Given the description of an element on the screen output the (x, y) to click on. 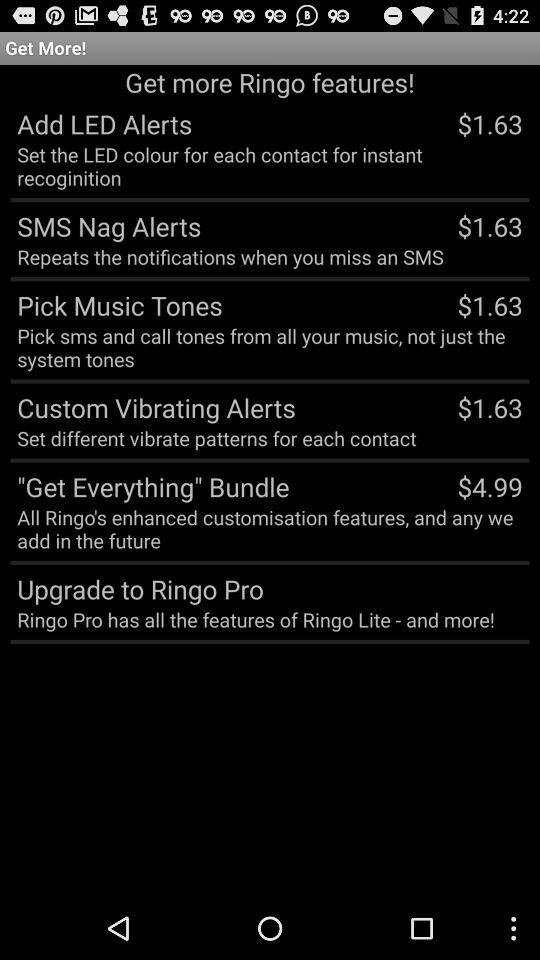
choose the item below all ringo s item (522, 588)
